Given the description of an element on the screen output the (x, y) to click on. 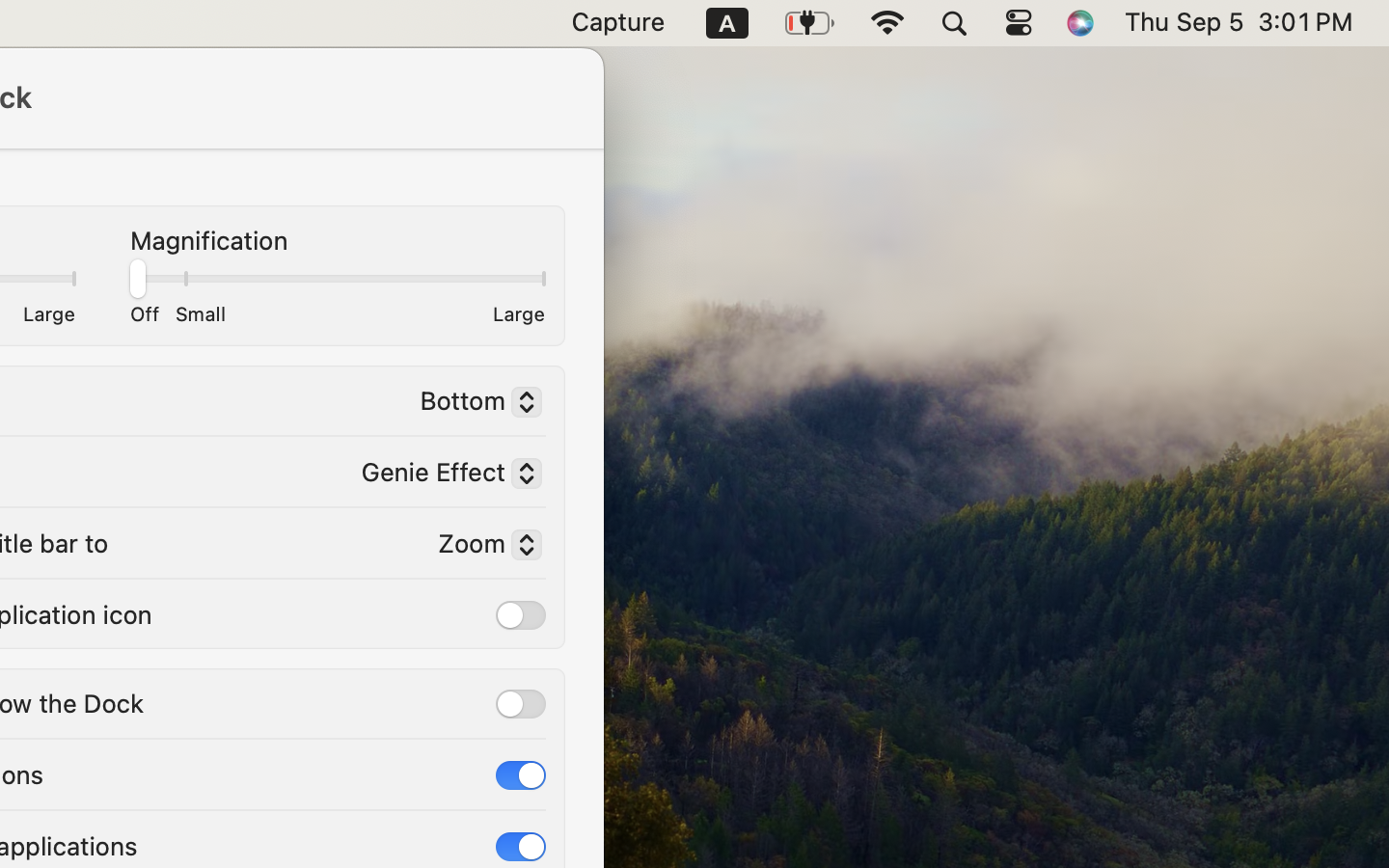
Zoom Element type: AXPopUpButton (481, 546)
